Given the description of an element on the screen output the (x, y) to click on. 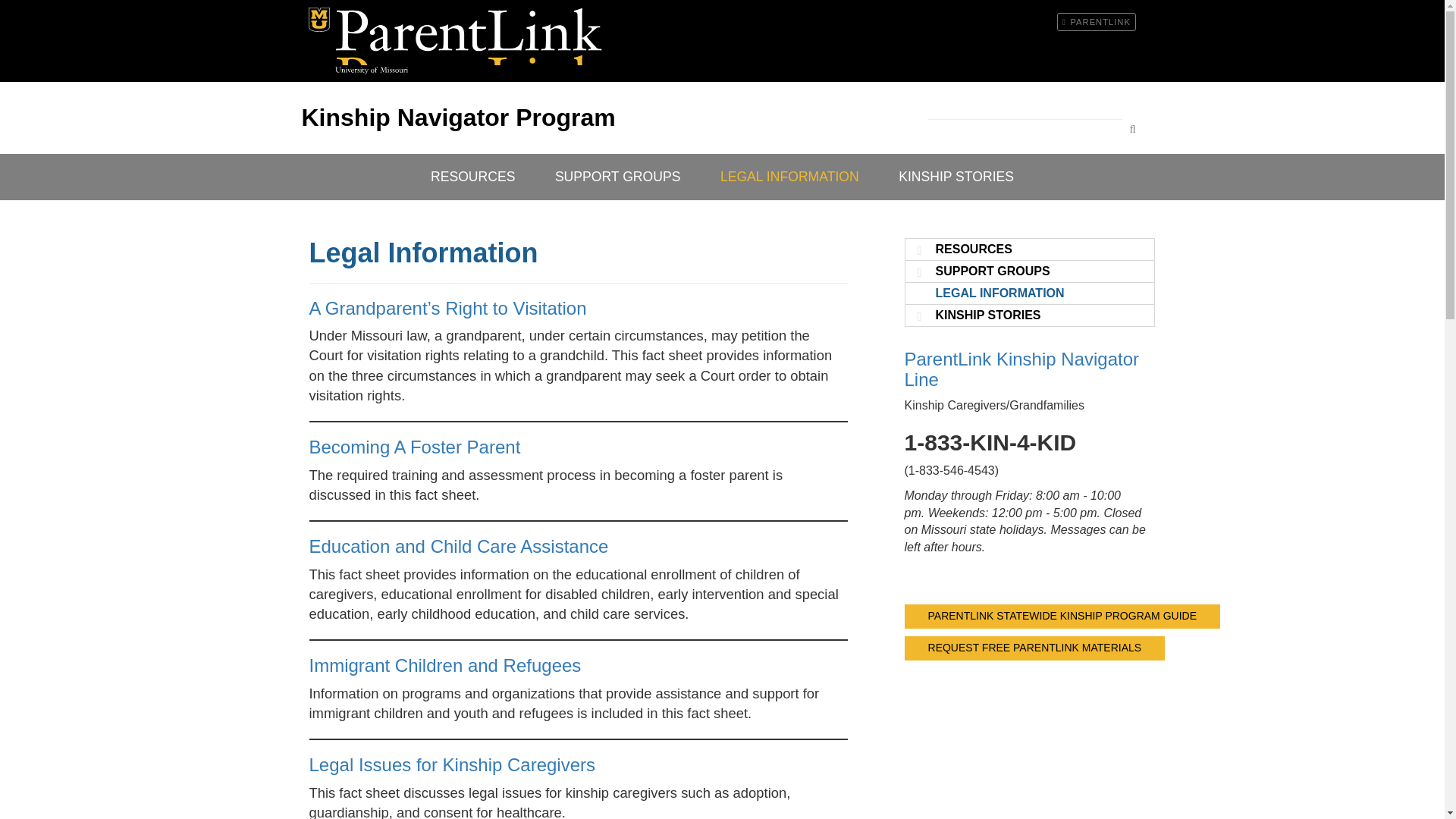
Immigrant Children and Refugees (444, 665)
SEARCH (1132, 128)
Kinship Navigator Program (458, 117)
Education and Child Care Assistance (458, 546)
University of Missouri (371, 70)
SUPPORT GROUPS (617, 176)
Search: (1034, 128)
Becoming A Foster Parent (414, 446)
RESOURCES (973, 248)
Kinship Navigator Program (469, 36)
